Given the description of an element on the screen output the (x, y) to click on. 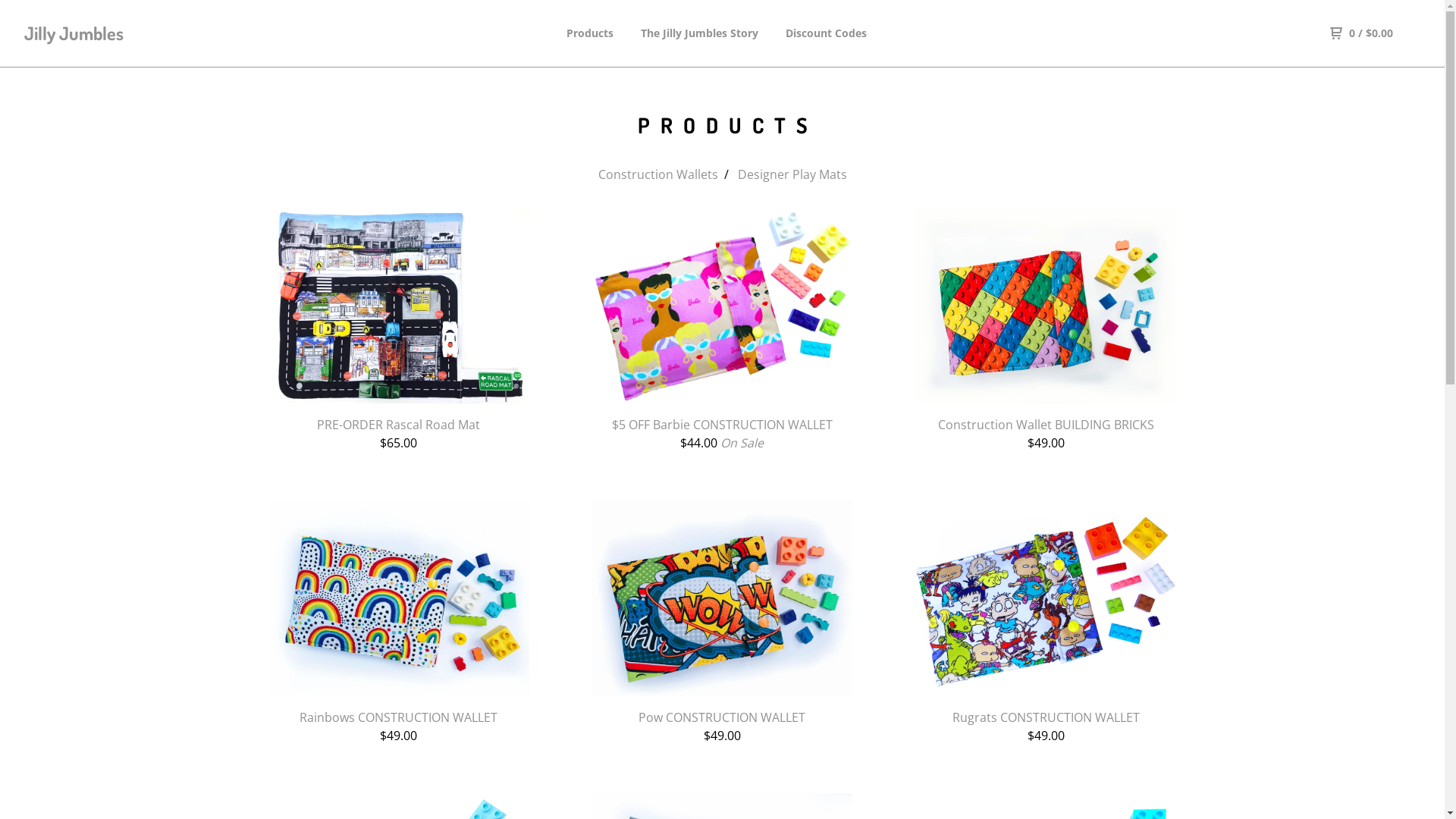
The Jilly Jumbles Story Element type: text (698, 32)
Discount Codes Element type: text (825, 32)
Rainbows CONSTRUCTION WALLET
$49.00 Element type: text (398, 622)
0 / $0.00 Element type: text (1361, 32)
Designer Play Mats Element type: text (791, 174)
PRE-ORDER Rascal Road Mat
$65.00 Element type: text (398, 329)
Jilly Jumbles Element type: text (103, 33)
Rugrats CONSTRUCTION WALLET
$49.00 Element type: text (1045, 622)
Construction Wallet BUILDING BRICKS
$49.00 Element type: text (1045, 329)
Pow CONSTRUCTION WALLET
$49.00 Element type: text (722, 622)
Products Element type: text (588, 32)
$5 OFF Barbie CONSTRUCTION WALLET
$44.00 On Sale Element type: text (722, 329)
Construction Wallets Element type: text (657, 174)
